Given the description of an element on the screen output the (x, y) to click on. 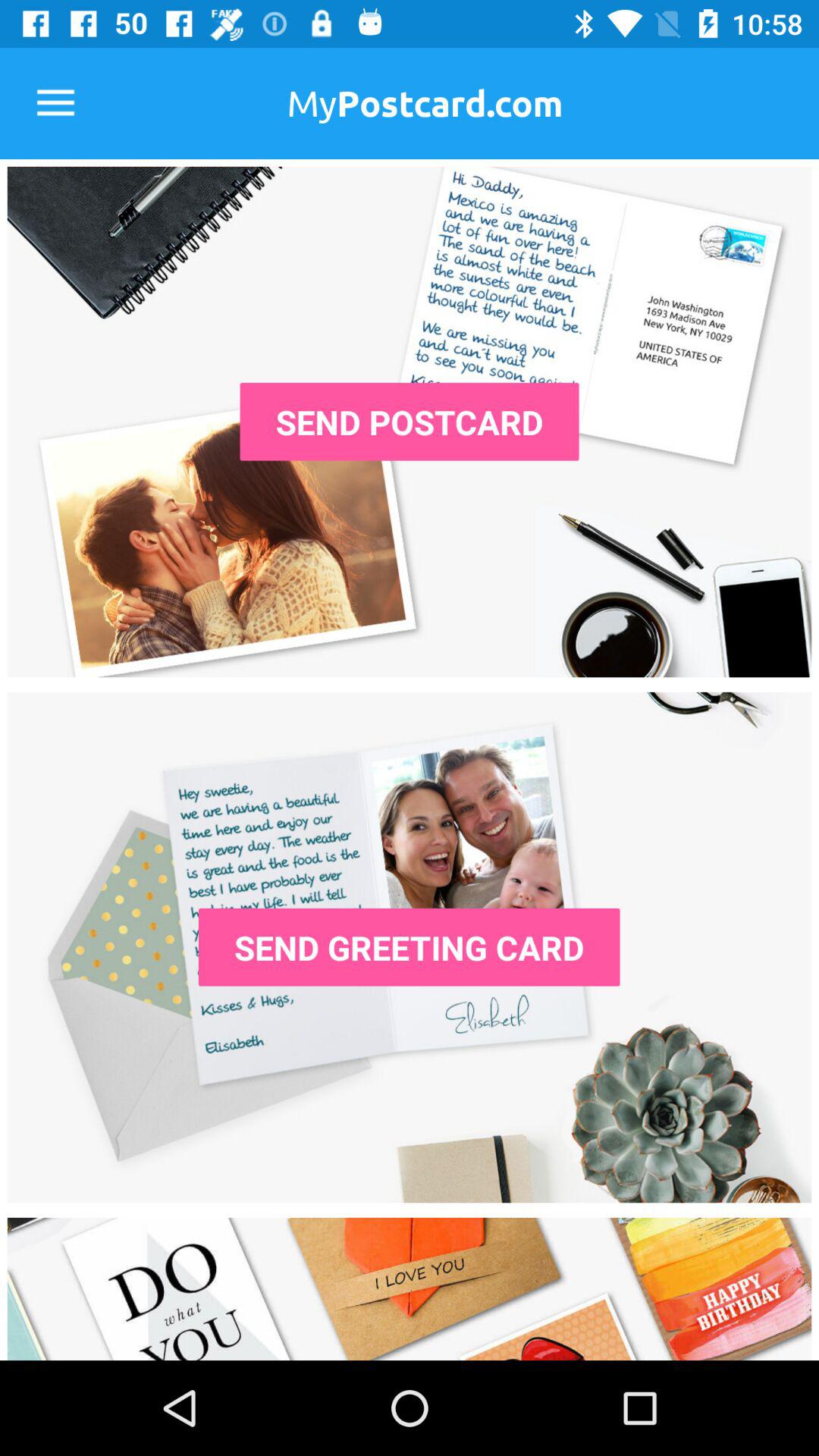
send postcard option (409, 421)
